Given the description of an element on the screen output the (x, y) to click on. 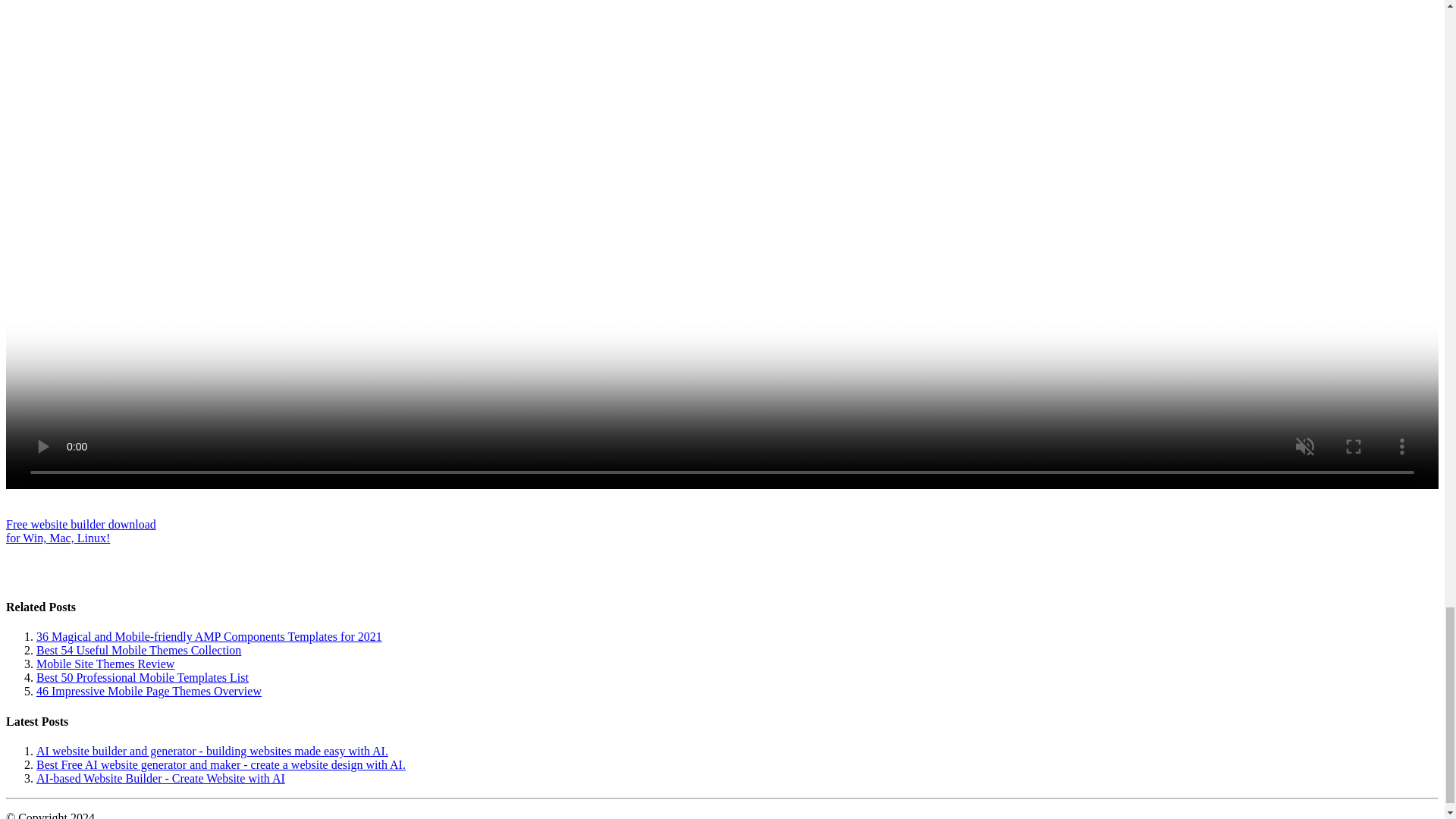
Mobile Site Themes Review (105, 663)
AI-based Website Builder - Create Website with AI (80, 530)
46 Impressive Mobile Page Themes Overview (160, 778)
Best 50 Professional Mobile Templates List (149, 690)
Best 54 Useful Mobile Themes Collection (142, 676)
